Given the description of an element on the screen output the (x, y) to click on. 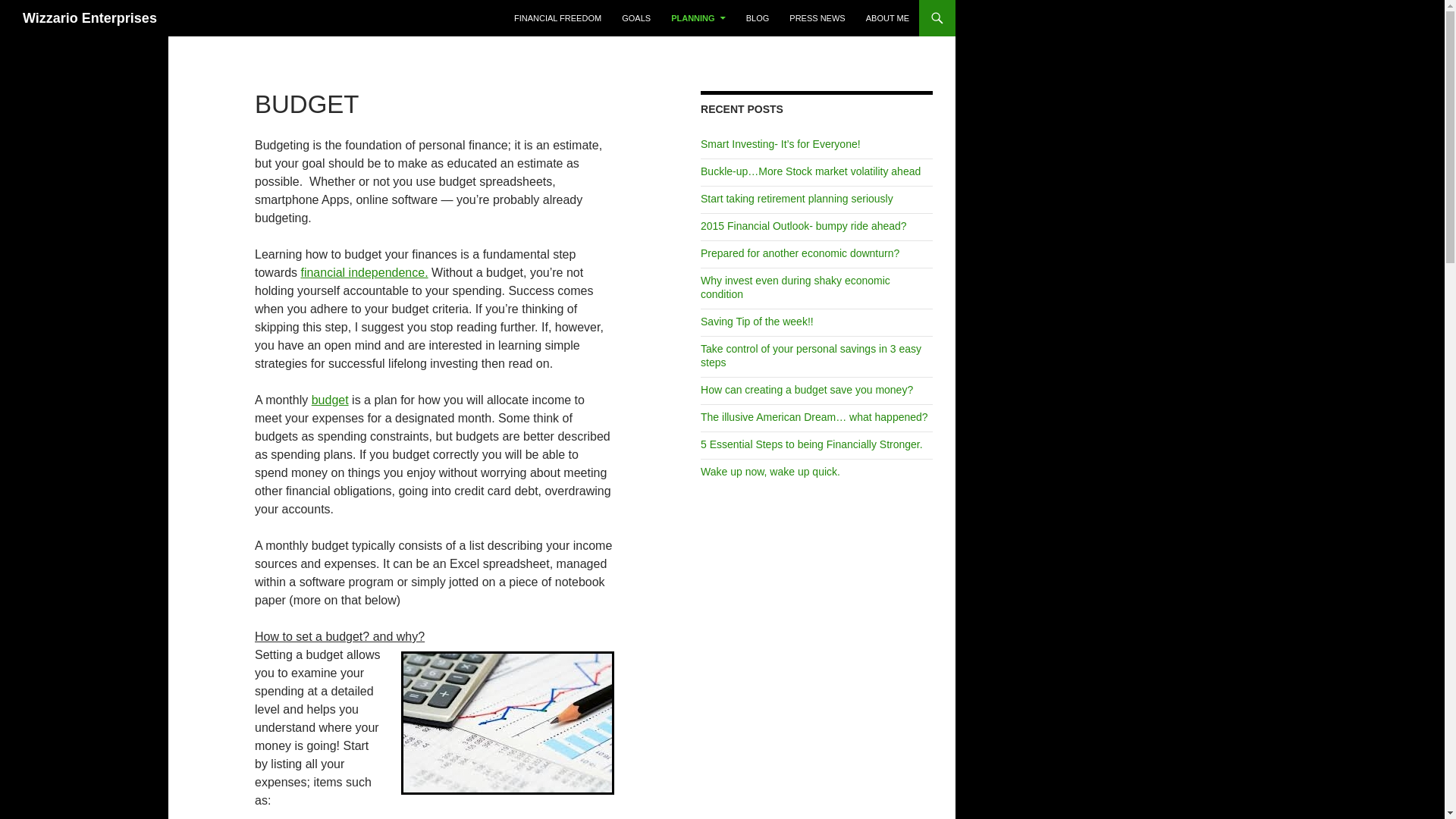
GOALS (635, 18)
2015 Financial Outlook- bumpy ride ahead? (803, 225)
FINANCIAL FREEDOM (557, 18)
Prepared for another economic downturn? (799, 253)
Wizzario Enterprises (90, 18)
PRESS NEWS (816, 18)
PLANNING (697, 18)
Start taking retirement planning seriously (796, 198)
budget (330, 399)
Why invest even during shaky economic condition (794, 287)
